Given the description of an element on the screen output the (x, y) to click on. 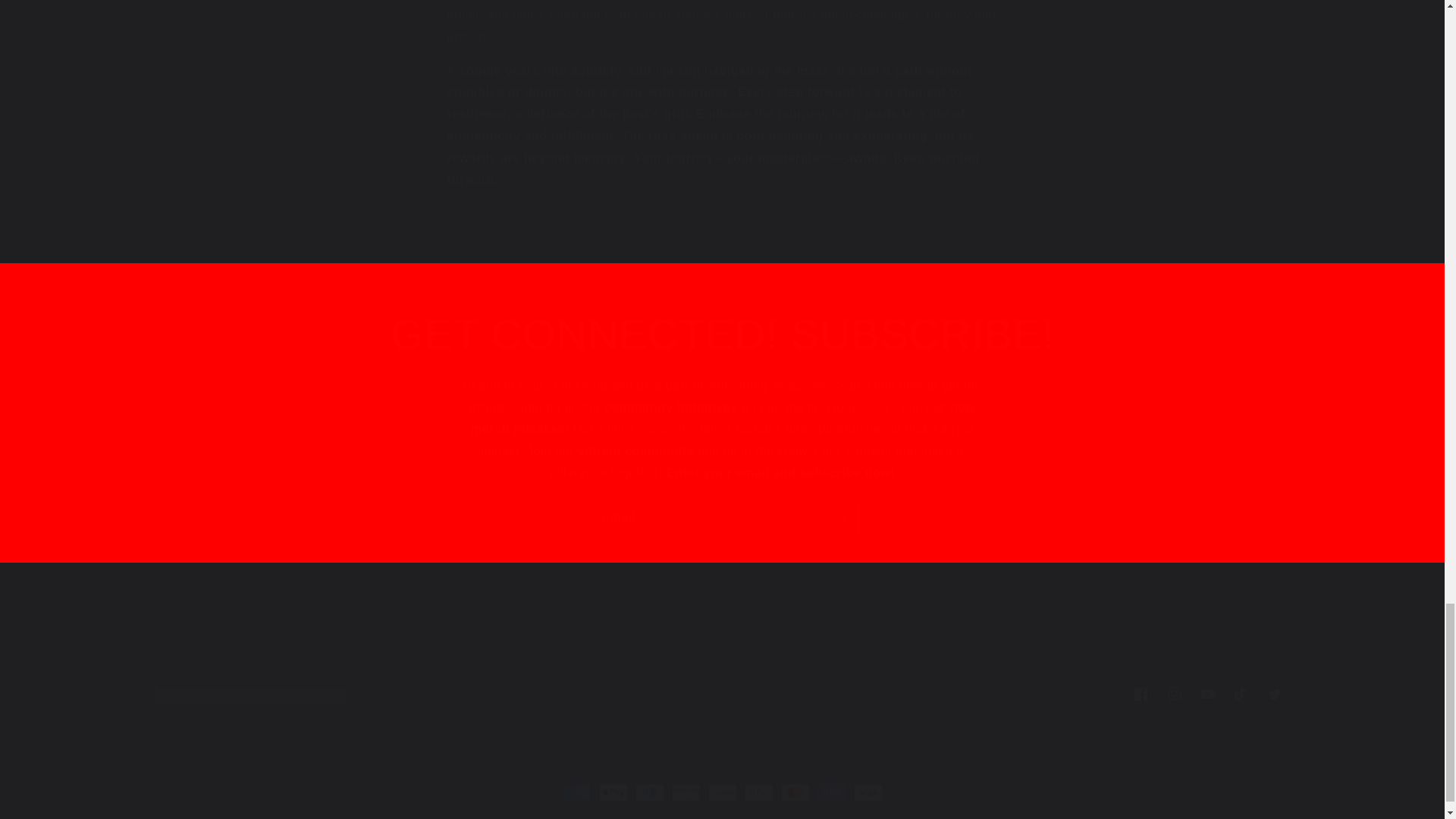
Email (722, 517)
GET CONNECTED! SUBSCRIBE! (721, 693)
